Given the description of an element on the screen output the (x, y) to click on. 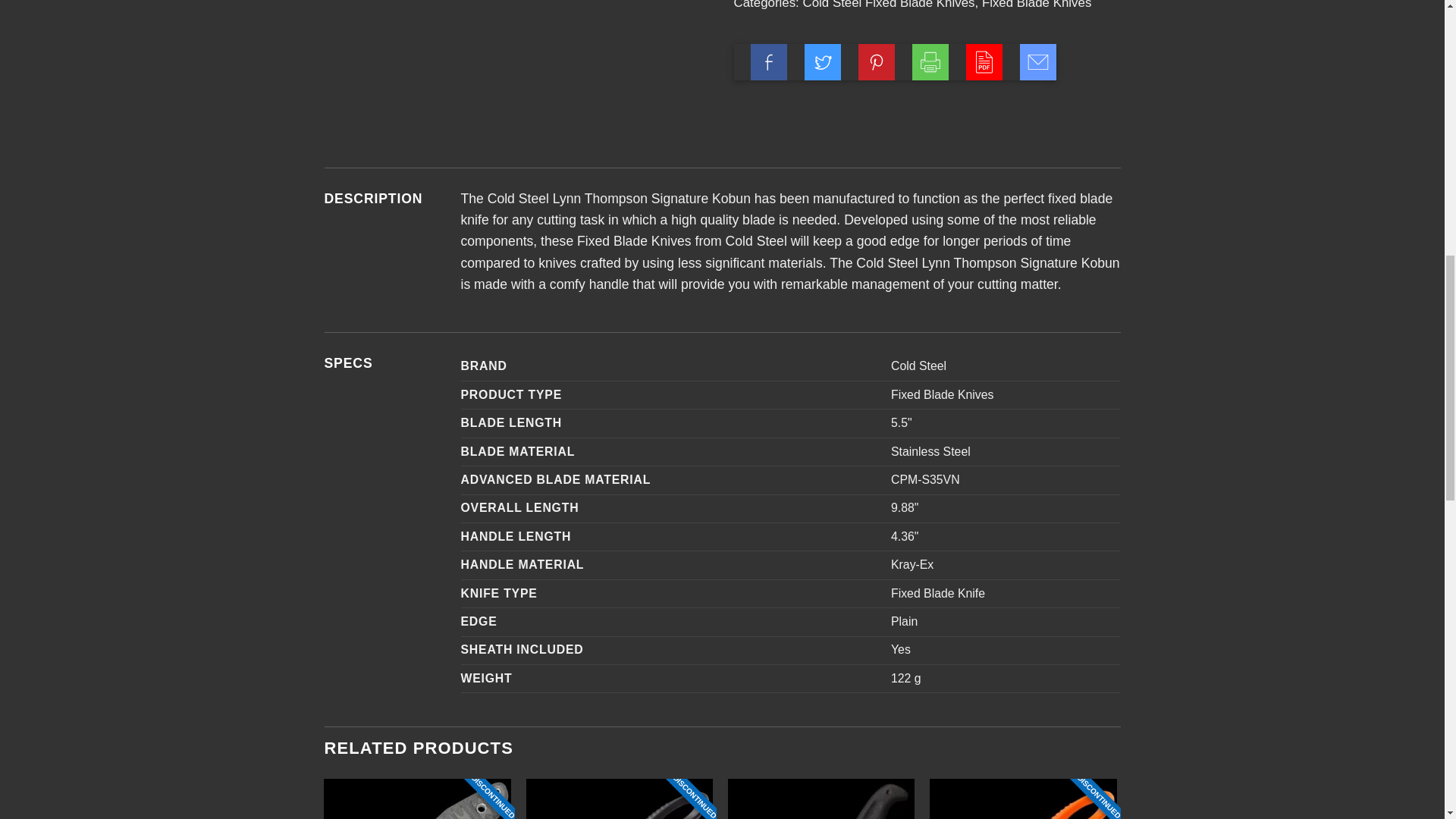
Download PDF (984, 62)
Share on Pinterest (877, 62)
Share on Twitter (823, 62)
Share on Facebook (769, 62)
Print product (930, 62)
Email to a friend (1038, 62)
